Given the description of an element on the screen output the (x, y) to click on. 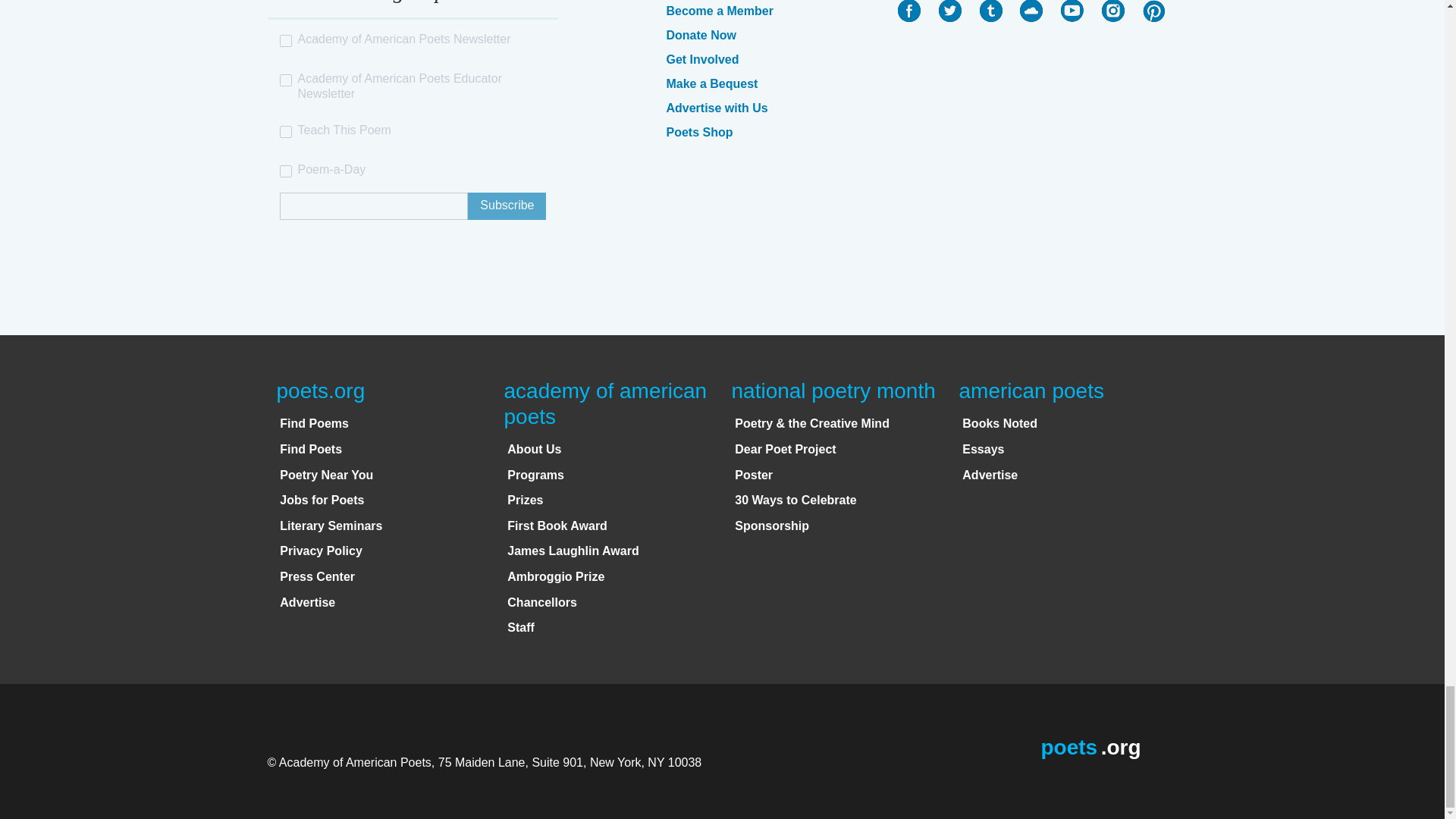
Subscribe (506, 206)
Become a Member (719, 10)
Subscribe (506, 206)
Poetry Near You (325, 474)
Jobs for Poets (321, 499)
